Given the description of an element on the screen output the (x, y) to click on. 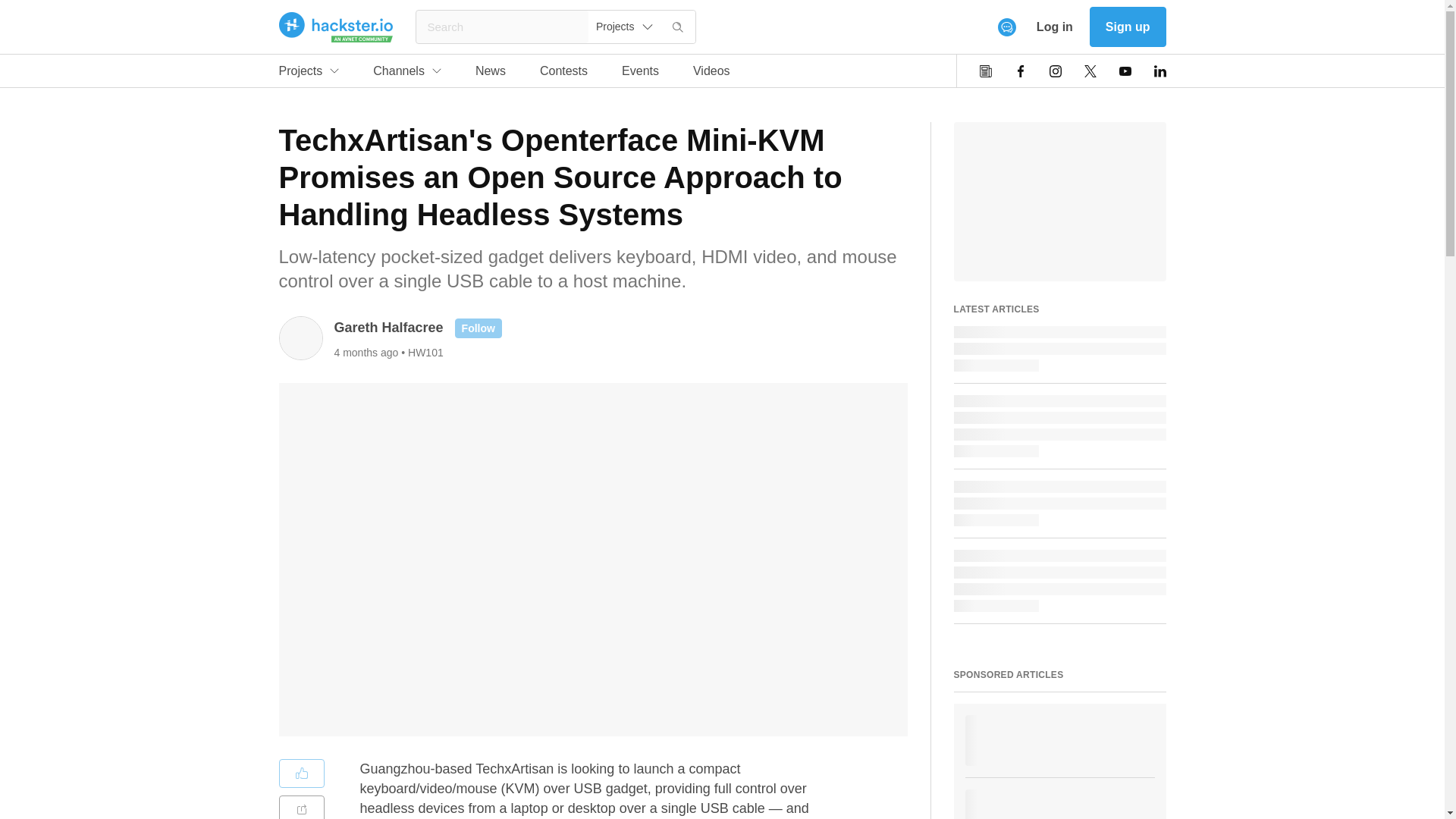
HW101 (425, 351)
Videos (711, 74)
Projects (309, 74)
Sign up (504, 74)
Channels (1127, 26)
x (406, 74)
linkedin (1090, 70)
Sign up (1160, 70)
